Given the description of an element on the screen output the (x, y) to click on. 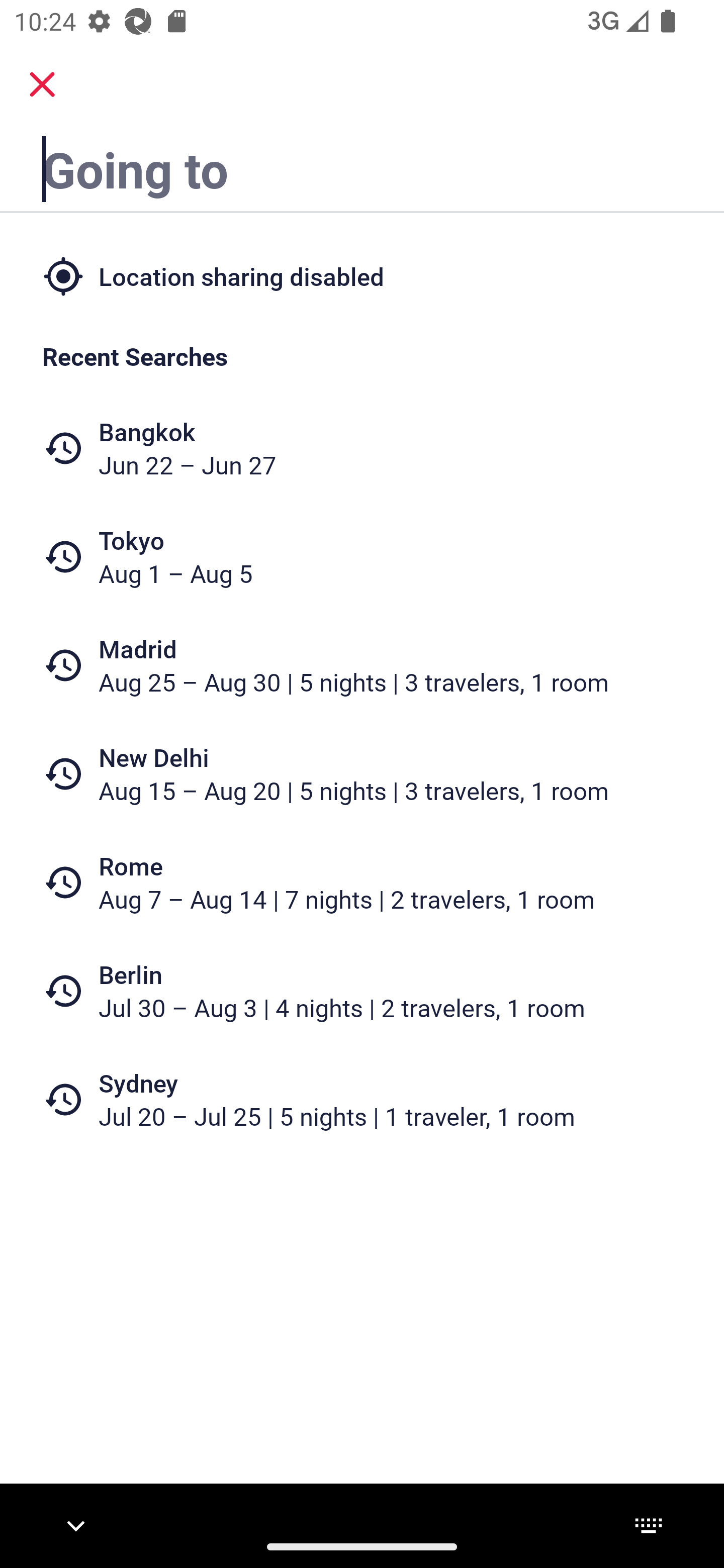
close. (42, 84)
Location sharing disabled (362, 275)
Bangkok Jun 22 – Jun 27 (362, 448)
Tokyo Aug 1 – Aug 5 (362, 557)
